Given the description of an element on the screen output the (x, y) to click on. 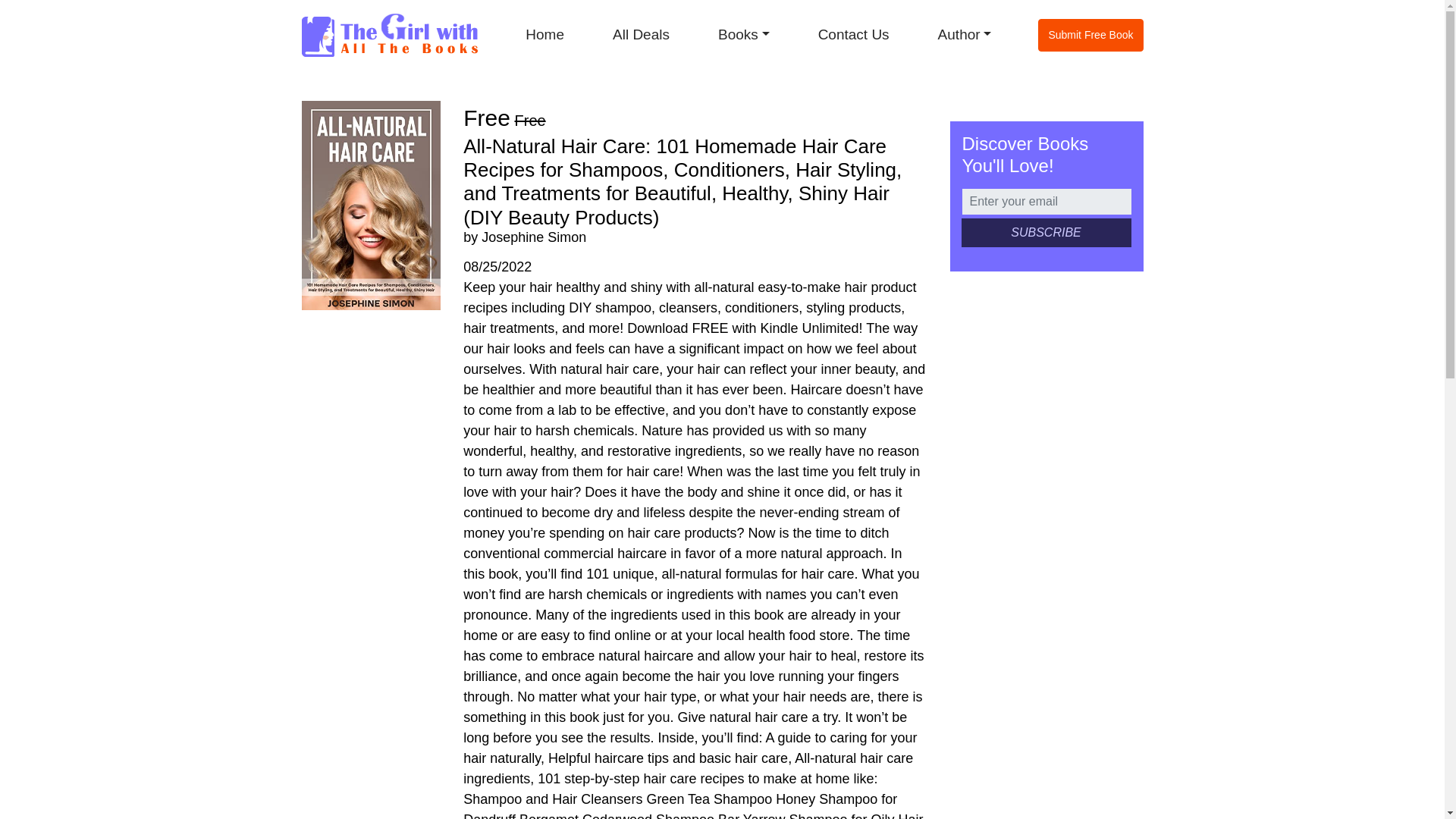
Contact Us (853, 35)
Submit Free Book (1090, 34)
Author (965, 35)
Home (544, 35)
Subscribe (1045, 232)
Books (743, 35)
All Deals (640, 35)
Subscribe (1045, 232)
